Given the description of an element on the screen output the (x, y) to click on. 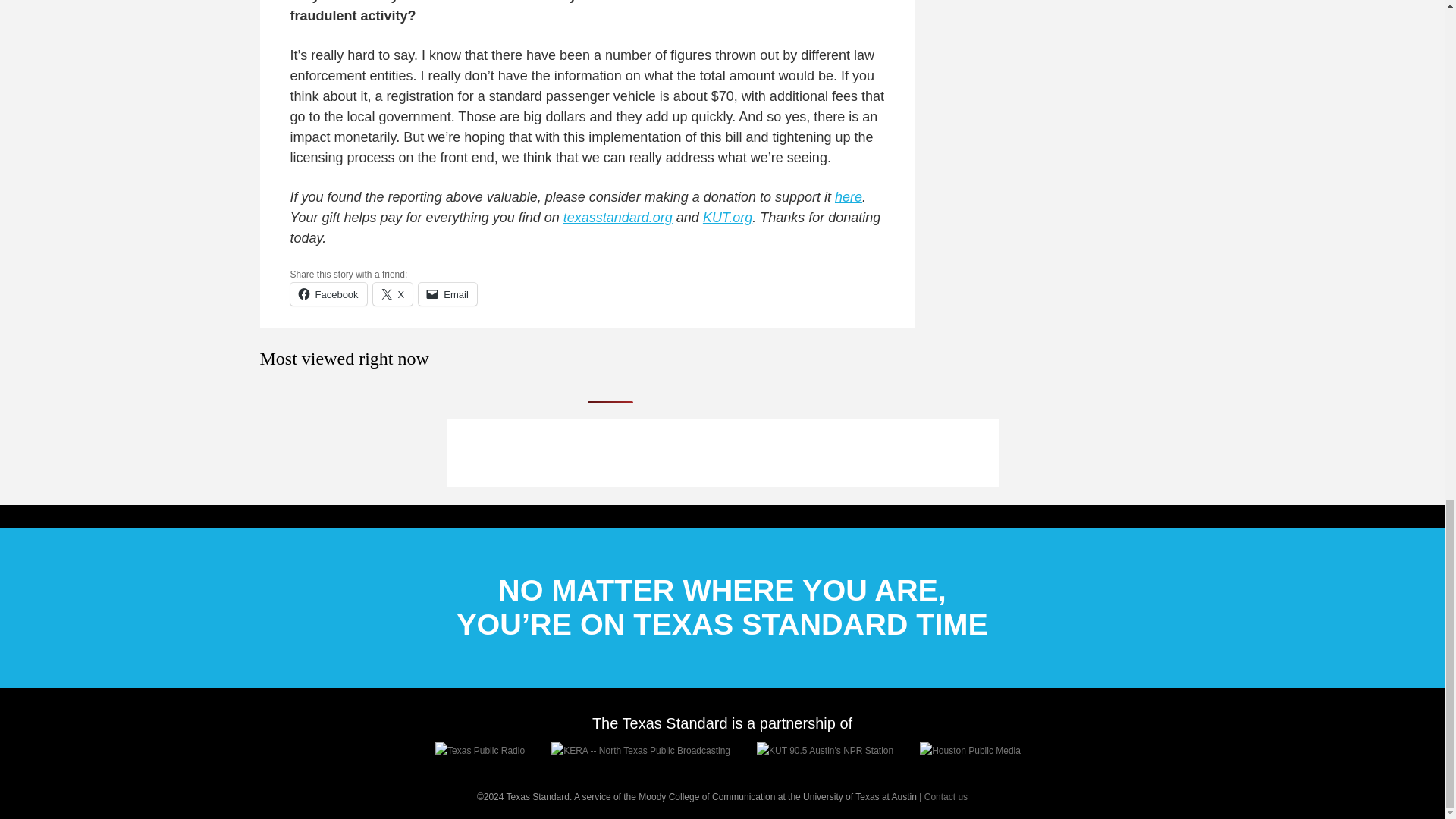
Click to email a link to a friend (448, 293)
Click to share on Facebook (327, 293)
Click to share on X (392, 293)
